Given the description of an element on the screen output the (x, y) to click on. 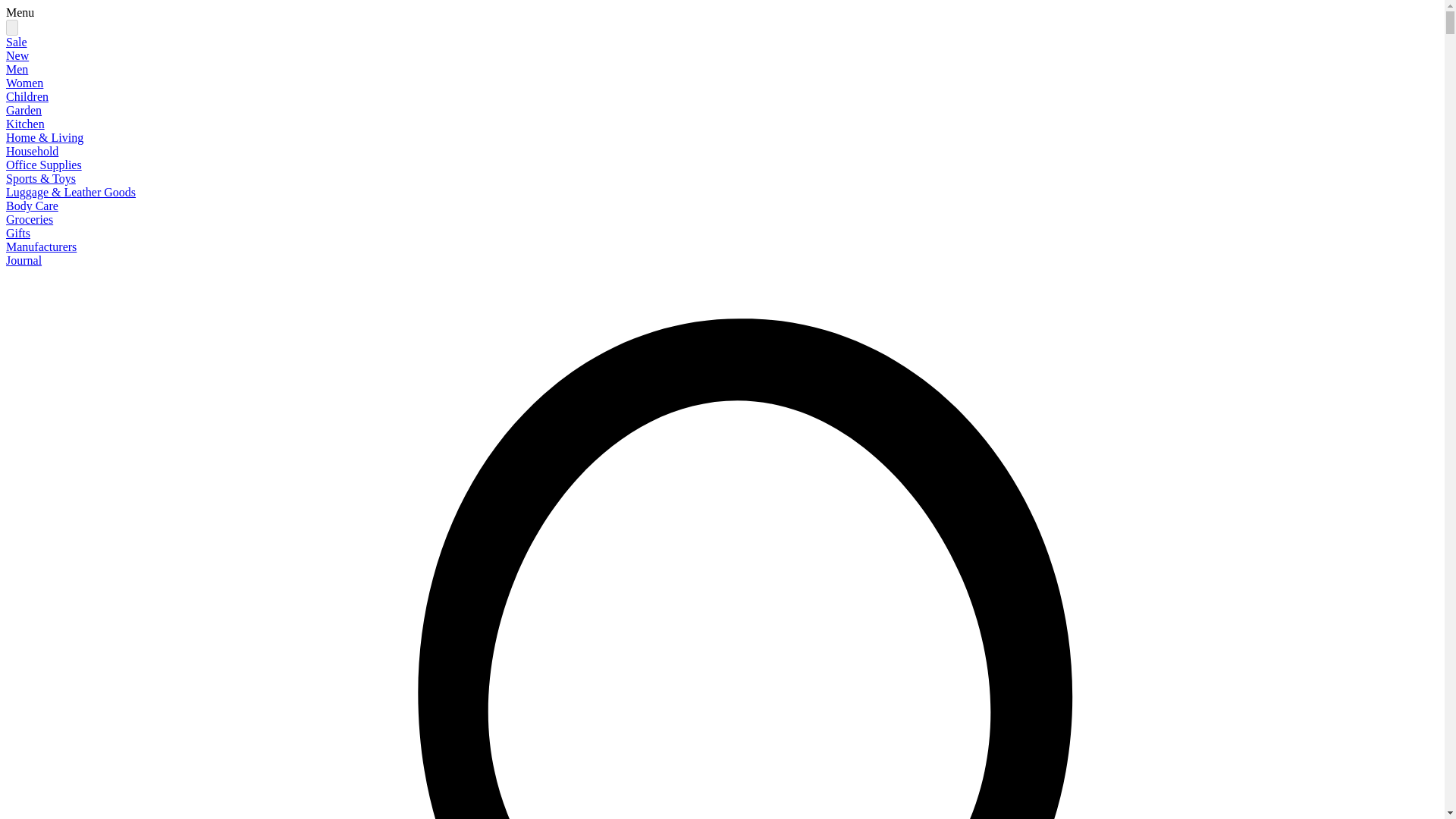
Sale (16, 42)
New (17, 55)
Office Supplies (43, 164)
Groceries (28, 219)
Household (31, 151)
Body Care (31, 205)
Women (24, 82)
Manufacturers (41, 246)
Journal (23, 259)
Men (16, 69)
Children (26, 96)
Gifts (17, 232)
Kitchen (25, 123)
Garden (23, 110)
